Given the description of an element on the screen output the (x, y) to click on. 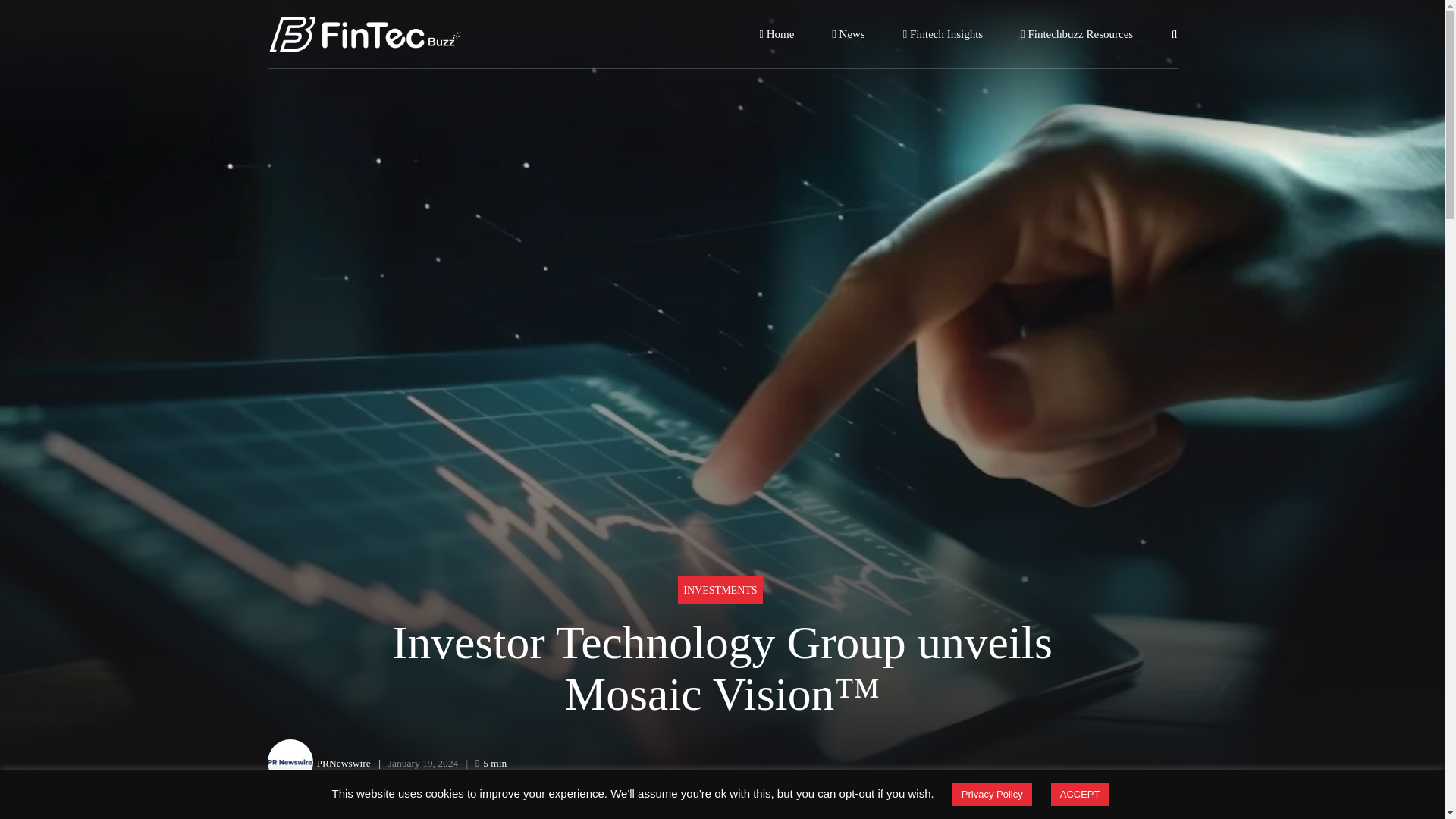
INVESTMENTS (719, 590)
PRNewswire (344, 763)
Fintech Insights (942, 33)
Fintechbuzz Resources (1076, 33)
